Given the description of an element on the screen output the (x, y) to click on. 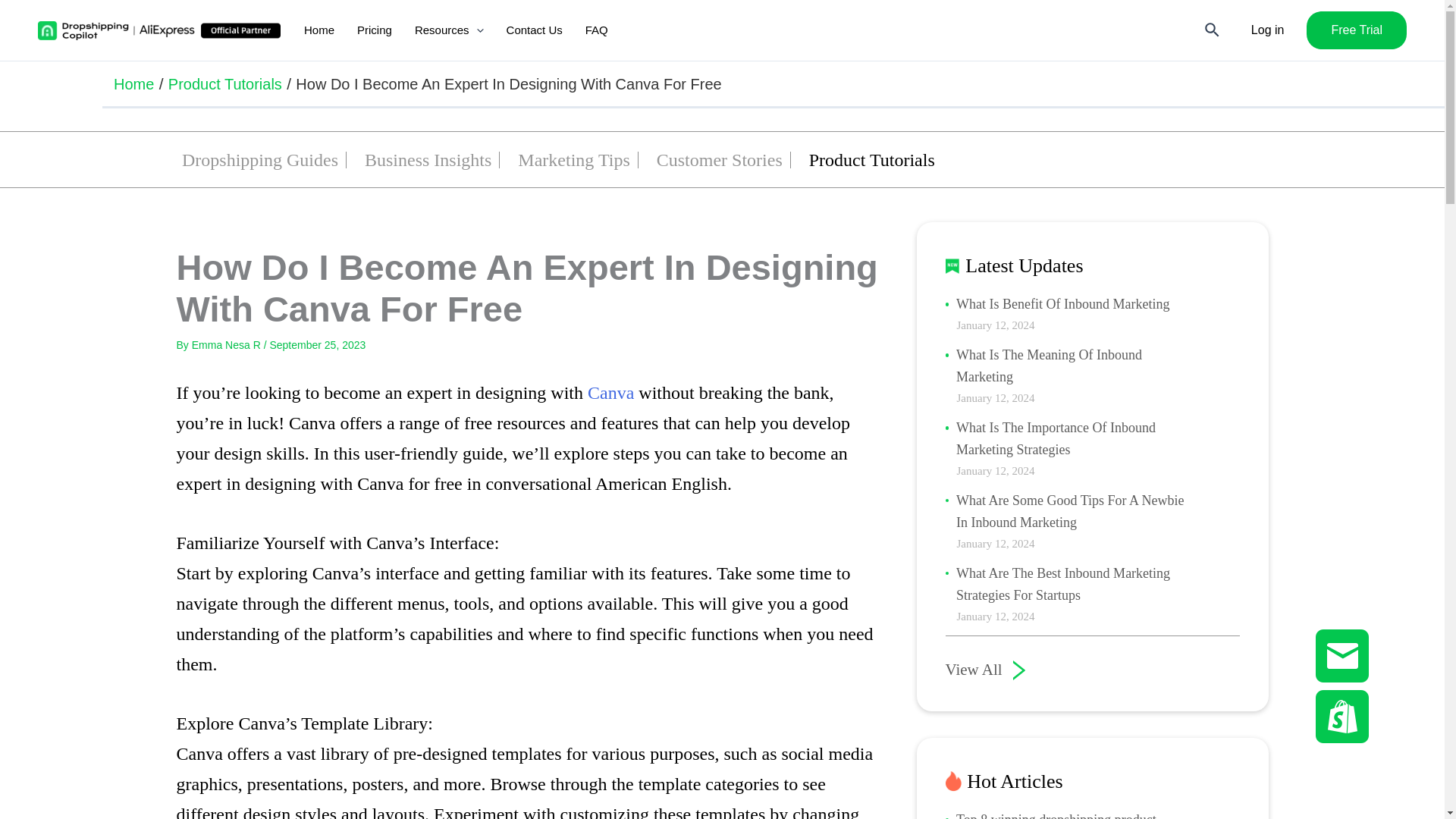
Product Tutorials (225, 83)
View all posts by Emma Nesa R (227, 345)
Marketing Tips (573, 160)
Free Trial (1356, 30)
Customer Stories (719, 160)
Dropshipping Guides (259, 160)
FAQ (596, 30)
Log in (1267, 29)
Home (133, 83)
Pricing (374, 30)
Resources (449, 30)
What Is Canva A Guide To The Graphic Design Platform (610, 392)
Product Tutorials (871, 160)
Business Insights (428, 160)
Contact Us (534, 30)
